Given the description of an element on the screen output the (x, y) to click on. 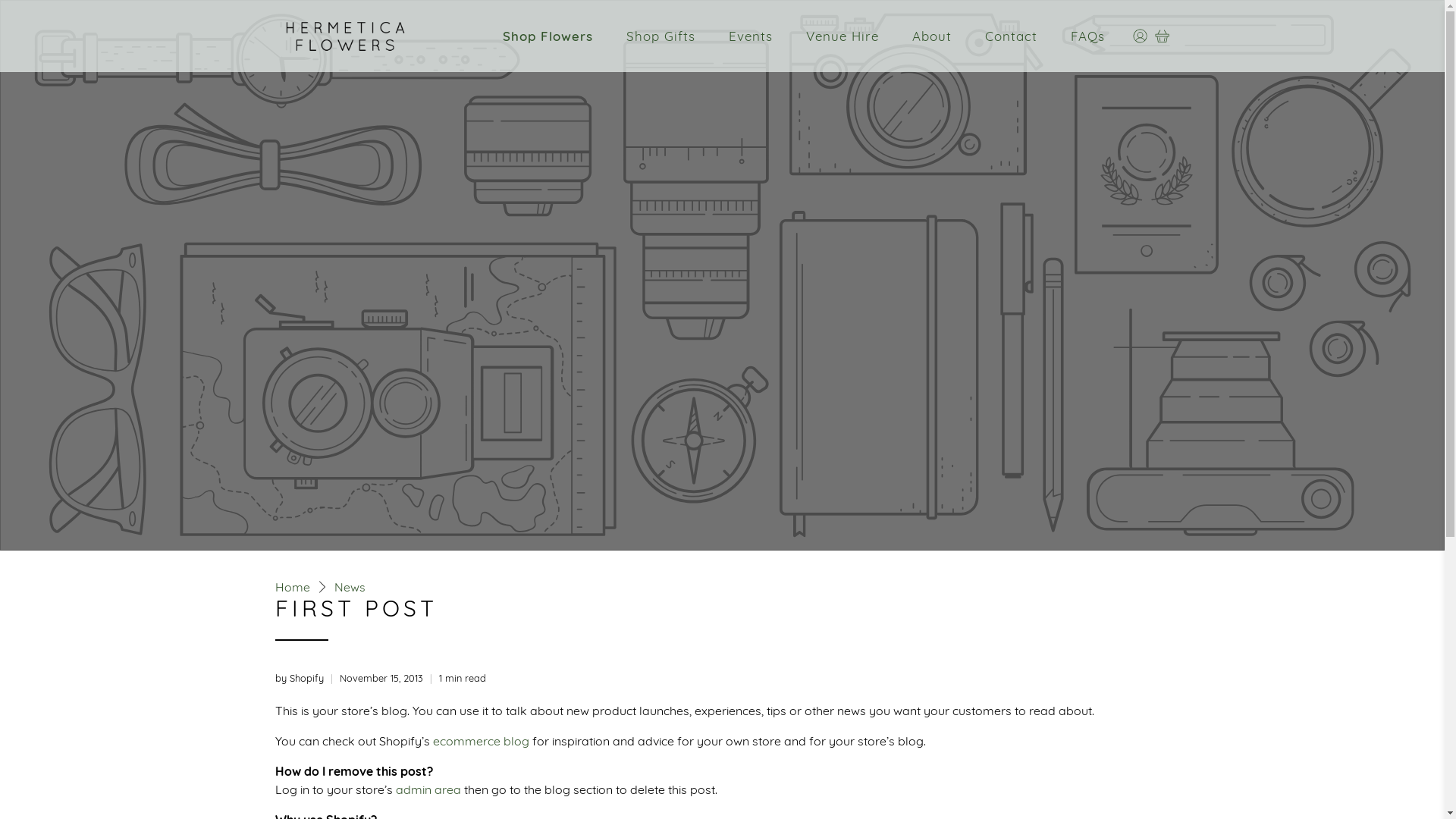
Venue Hire Element type: text (842, 36)
FAQs Element type: text (1087, 36)
Shop Flowers Element type: text (547, 36)
ecommerce blog Element type: text (480, 739)
Shop Gifts Element type: text (660, 36)
by Shopify Element type: text (298, 677)
Contact Element type: text (1010, 36)
News Element type: text (348, 586)
admin area Element type: text (428, 788)
Home Element type: text (291, 586)
Hermetica Flowers Element type: hover (343, 35)
Events Element type: text (750, 36)
About Element type: text (931, 36)
